Given the description of an element on the screen output the (x, y) to click on. 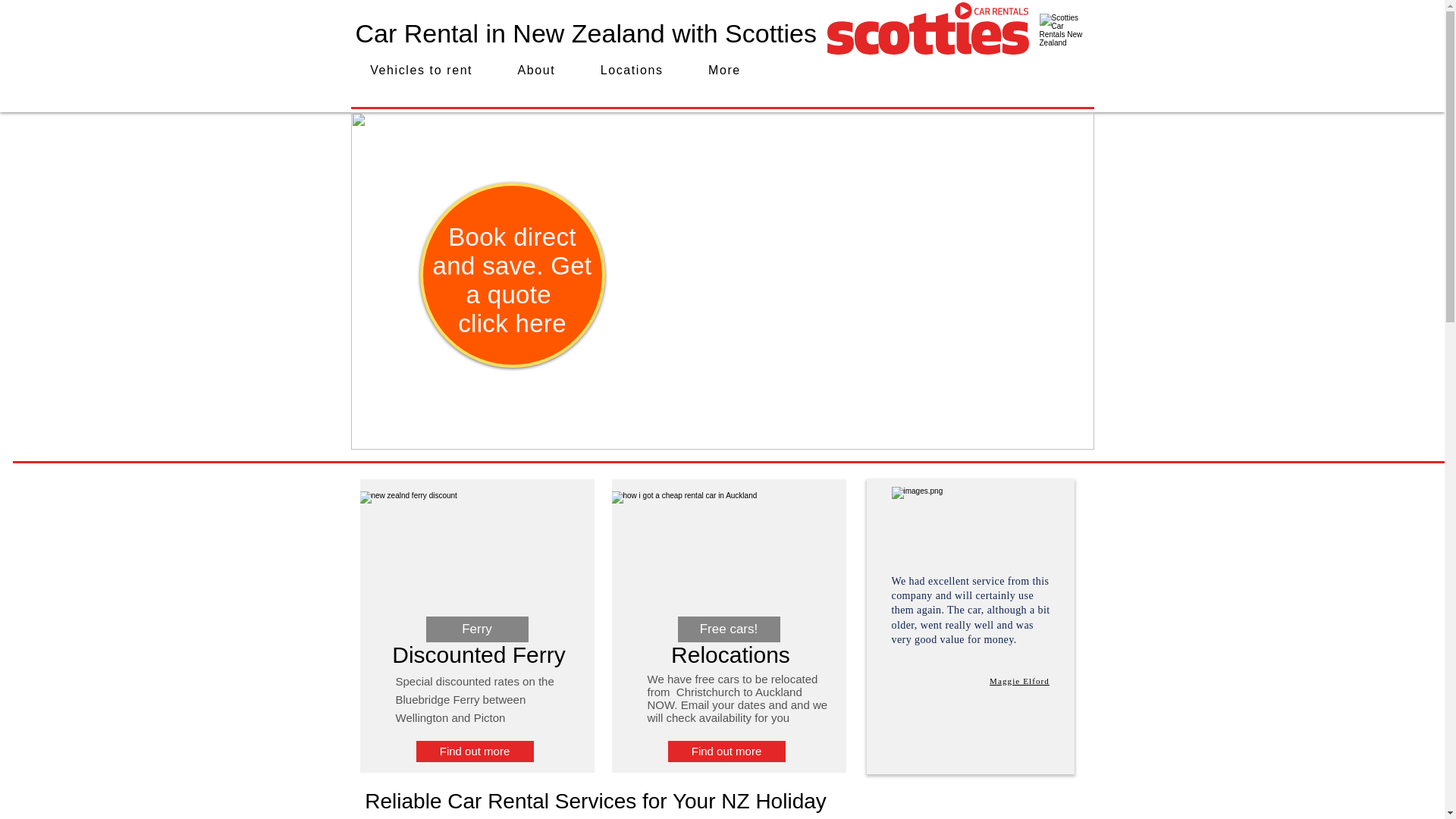
Find out more (473, 751)
Locations (631, 71)
About (536, 71)
Find out more (725, 751)
Car Rental in New Zealand with Scotties (512, 279)
Get a car rental cheaper (585, 32)
Maggie Elford (1062, 39)
Happy girls with rental car at Scotties (1019, 680)
